Given the description of an element on the screen output the (x, y) to click on. 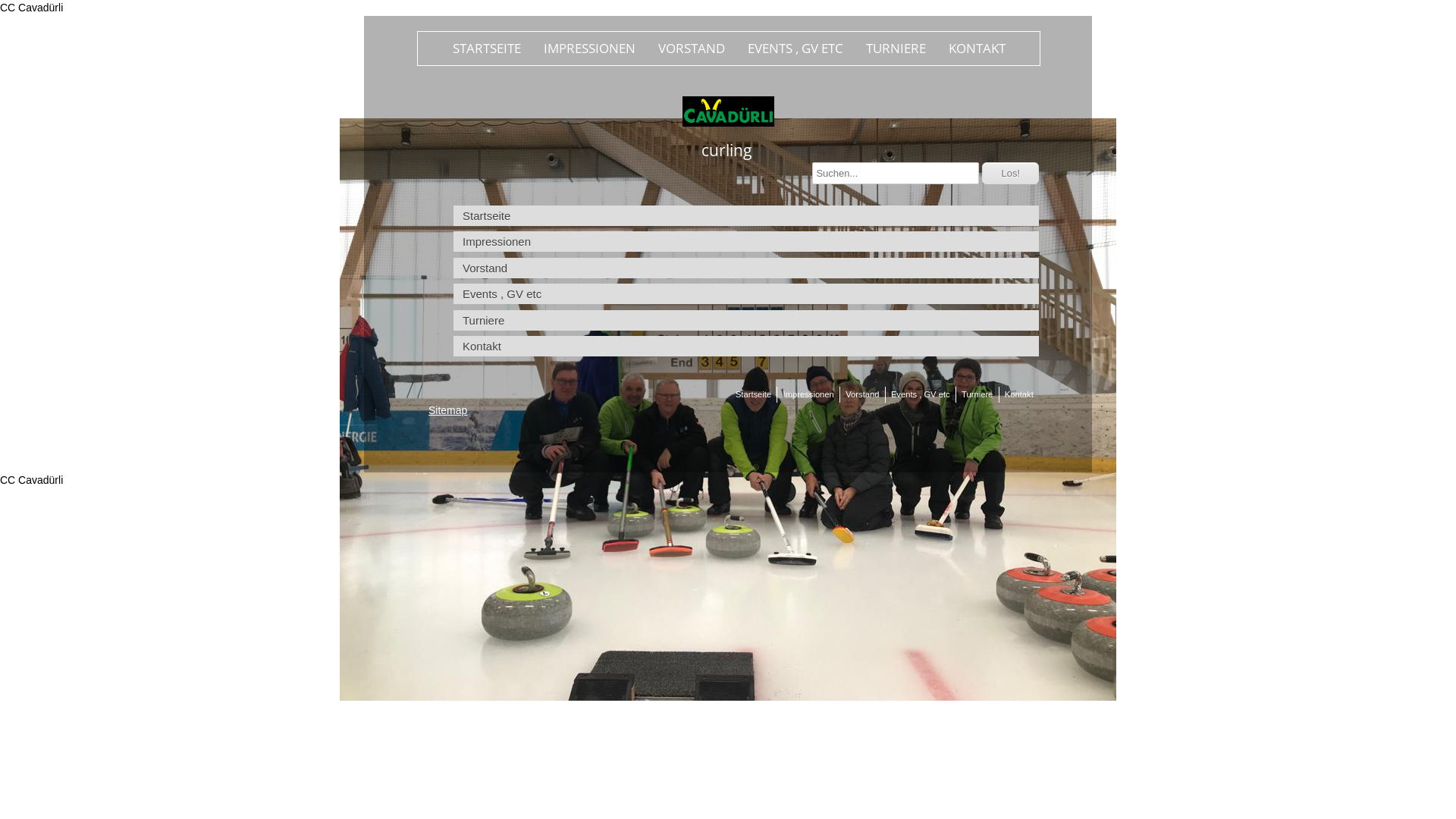
Vorstand Element type: text (745, 267)
Turniere Element type: text (745, 320)
Los! Element type: text (1010, 173)
Turniere Element type: text (976, 394)
IMPRESSIONEN Element type: text (589, 48)
STARTSEITE Element type: text (486, 48)
Startseite Element type: text (745, 215)
Impressionen Element type: text (745, 241)
Sitemap Element type: text (447, 410)
EVENTS , GV ETC Element type: text (794, 48)
Impressionen Element type: text (808, 394)
KONTAKT Element type: text (976, 48)
Startseite Element type: text (753, 394)
Events , GV etc Element type: text (920, 394)
VORSTAND Element type: text (690, 48)
Events , GV etc Element type: text (745, 293)
Kontakt Element type: text (745, 345)
Kontakt Element type: text (1019, 394)
Vorstand Element type: text (861, 394)
TURNIERE Element type: text (894, 48)
